Given the description of an element on the screen output the (x, y) to click on. 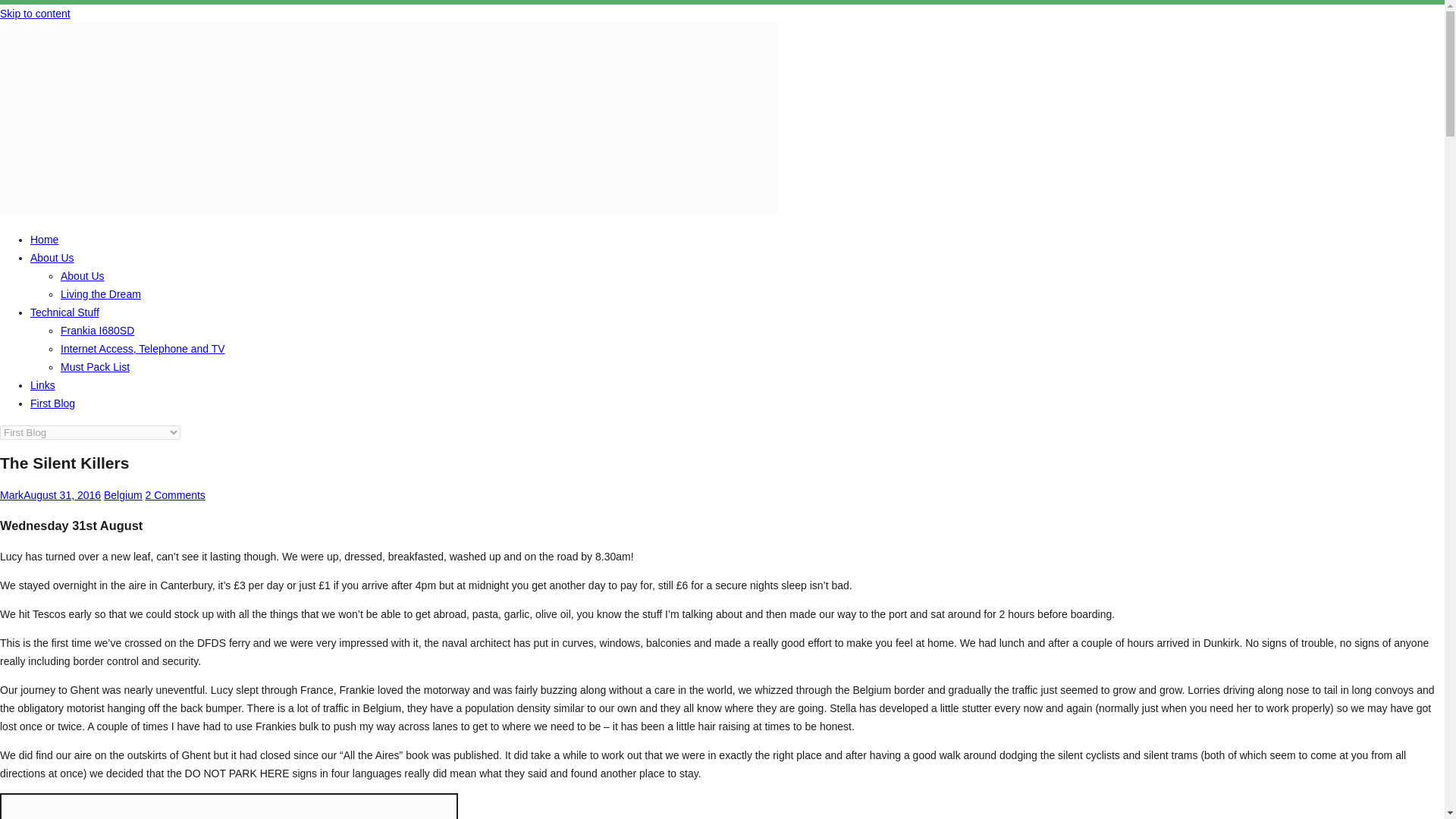
Technical Stuff (64, 312)
Home (44, 239)
August 31, 2016 (61, 494)
Mark (11, 494)
About Us (82, 275)
About Us (52, 257)
Skip to content (34, 13)
Must Pack List (95, 367)
2 Comments (174, 494)
Links (42, 385)
